Given the description of an element on the screen output the (x, y) to click on. 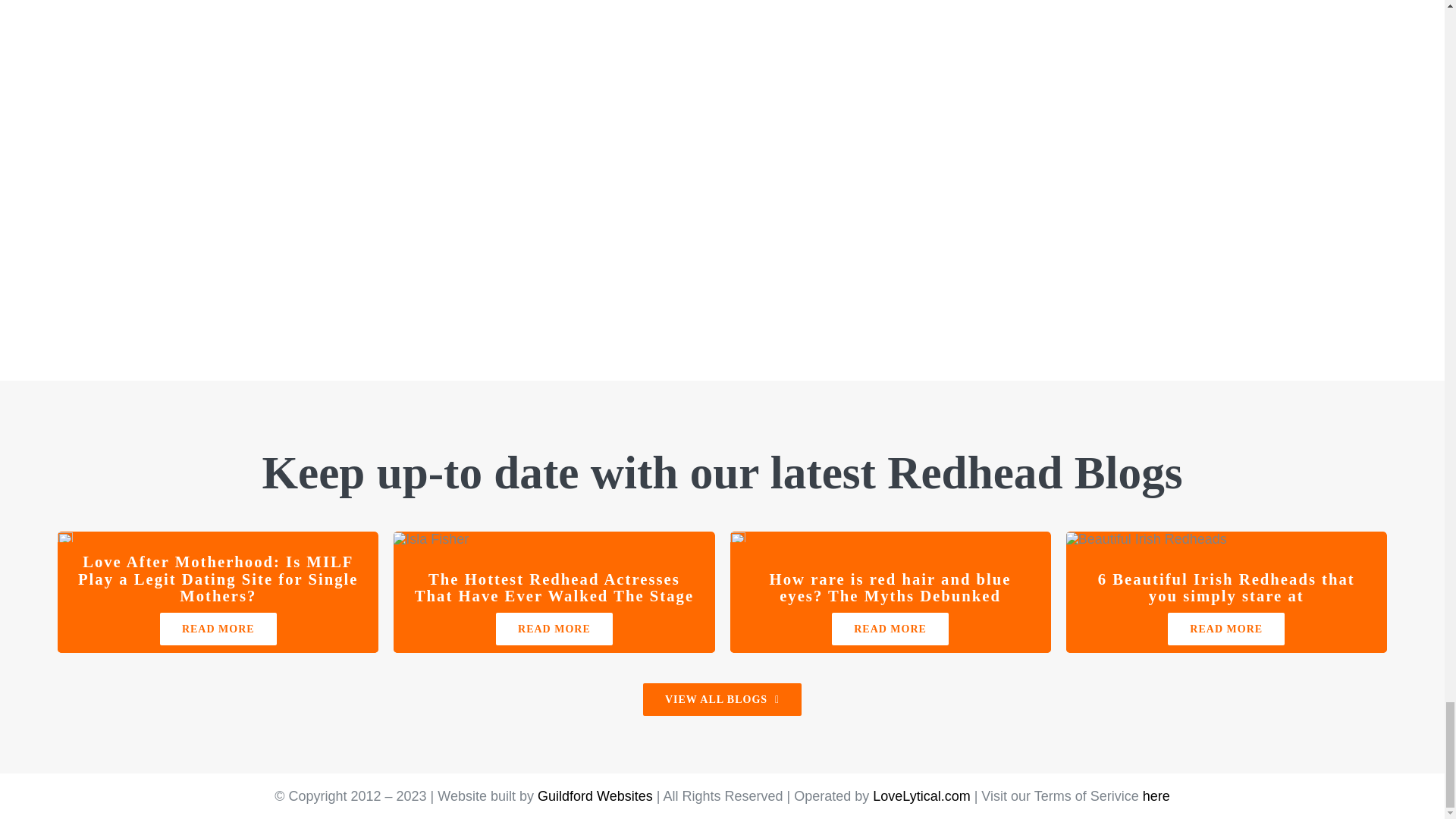
here (1156, 795)
VIEW ALL BLOGS (722, 699)
READ MORE (554, 628)
READ MORE (1225, 628)
Beautiful Irish Redheads (1146, 539)
LoveLytical.com (920, 795)
Isla Fisher (430, 539)
Guildford Websites (594, 795)
READ MORE (218, 628)
READ MORE (890, 628)
red hair blue eyes (736, 537)
